Given the description of an element on the screen output the (x, y) to click on. 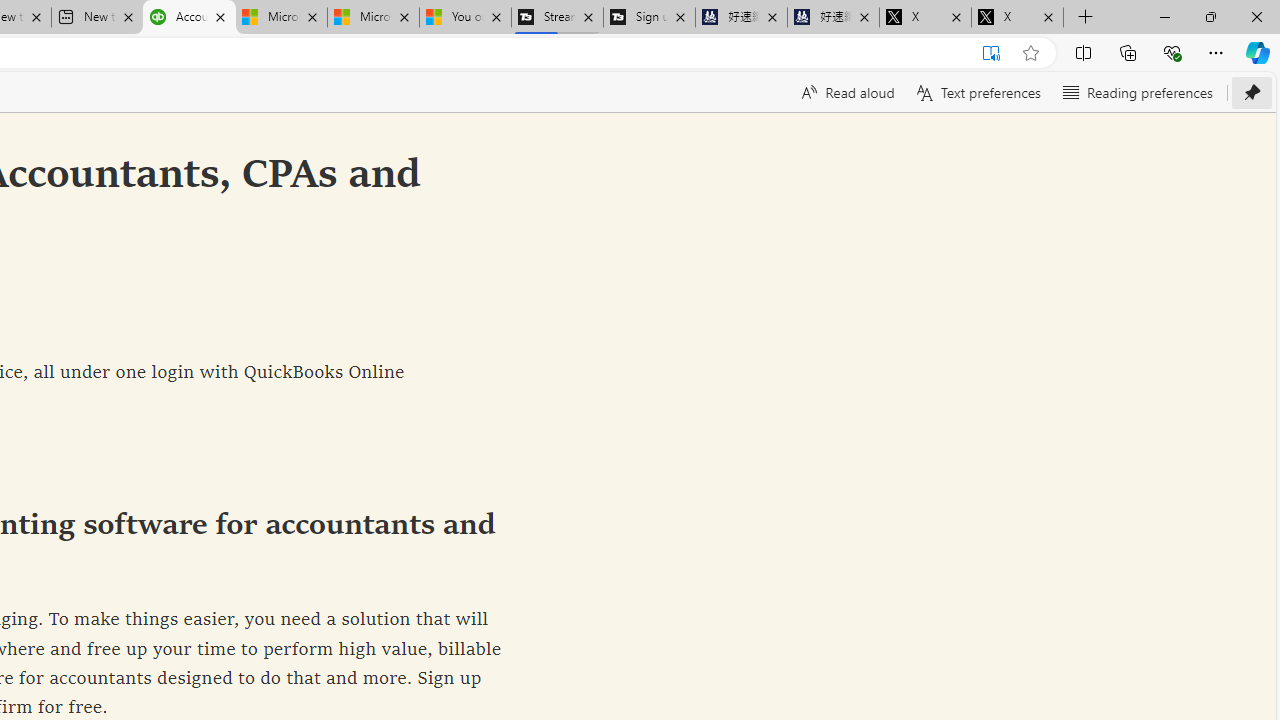
Streaming Coverage | T3 (557, 17)
Reading preferences (1136, 92)
X (1017, 17)
